Given the description of an element on the screen output the (x, y) to click on. 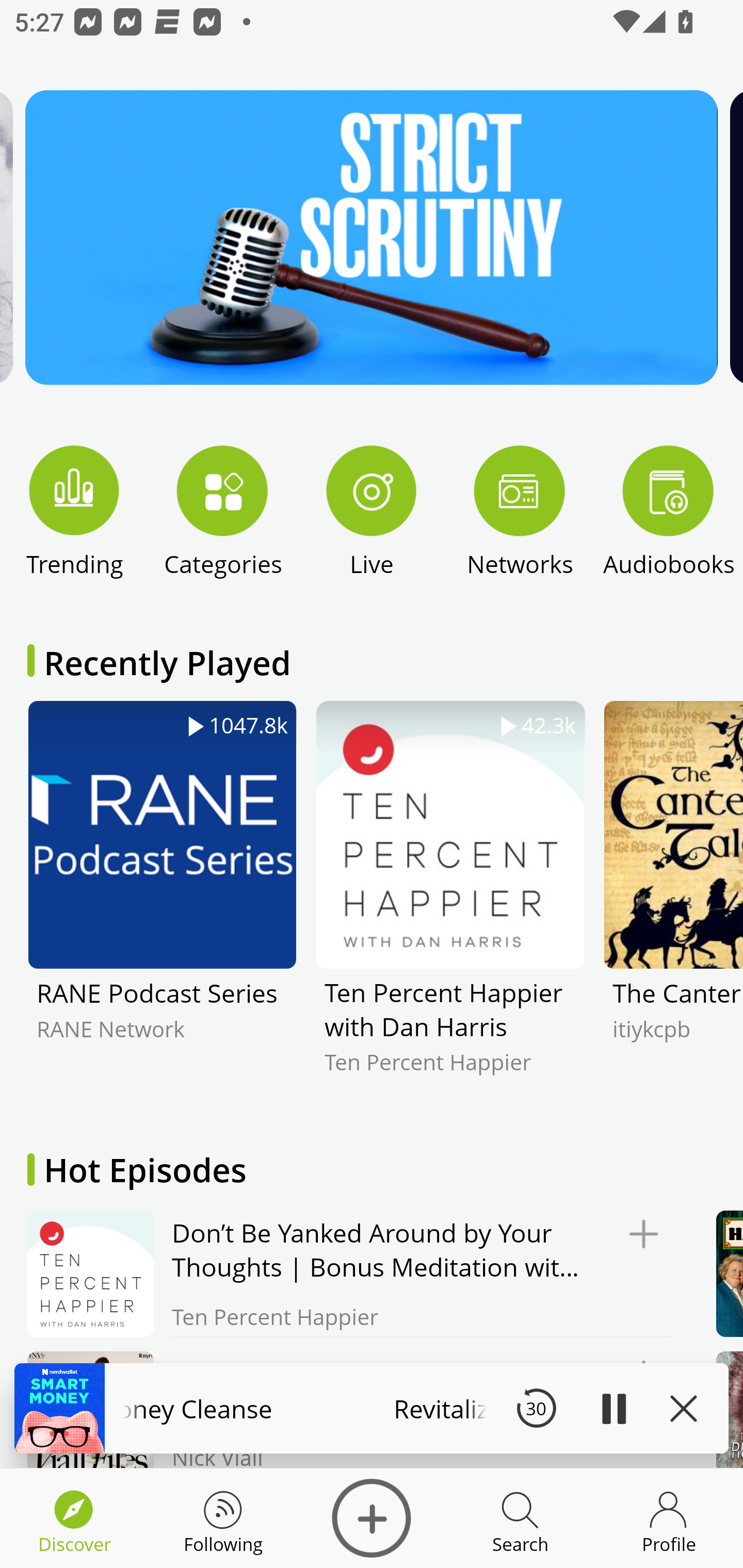
1047.8k RANE Podcast Series RANE Network (162, 902)
The Canterbury Tales itiykcpb (673, 902)
Play (613, 1407)
30 Seek Backward (536, 1407)
Discover Following (222, 1518)
Discover (371, 1518)
Discover Search (519, 1518)
Discover Profile (668, 1518)
